Given the description of an element on the screen output the (x, y) to click on. 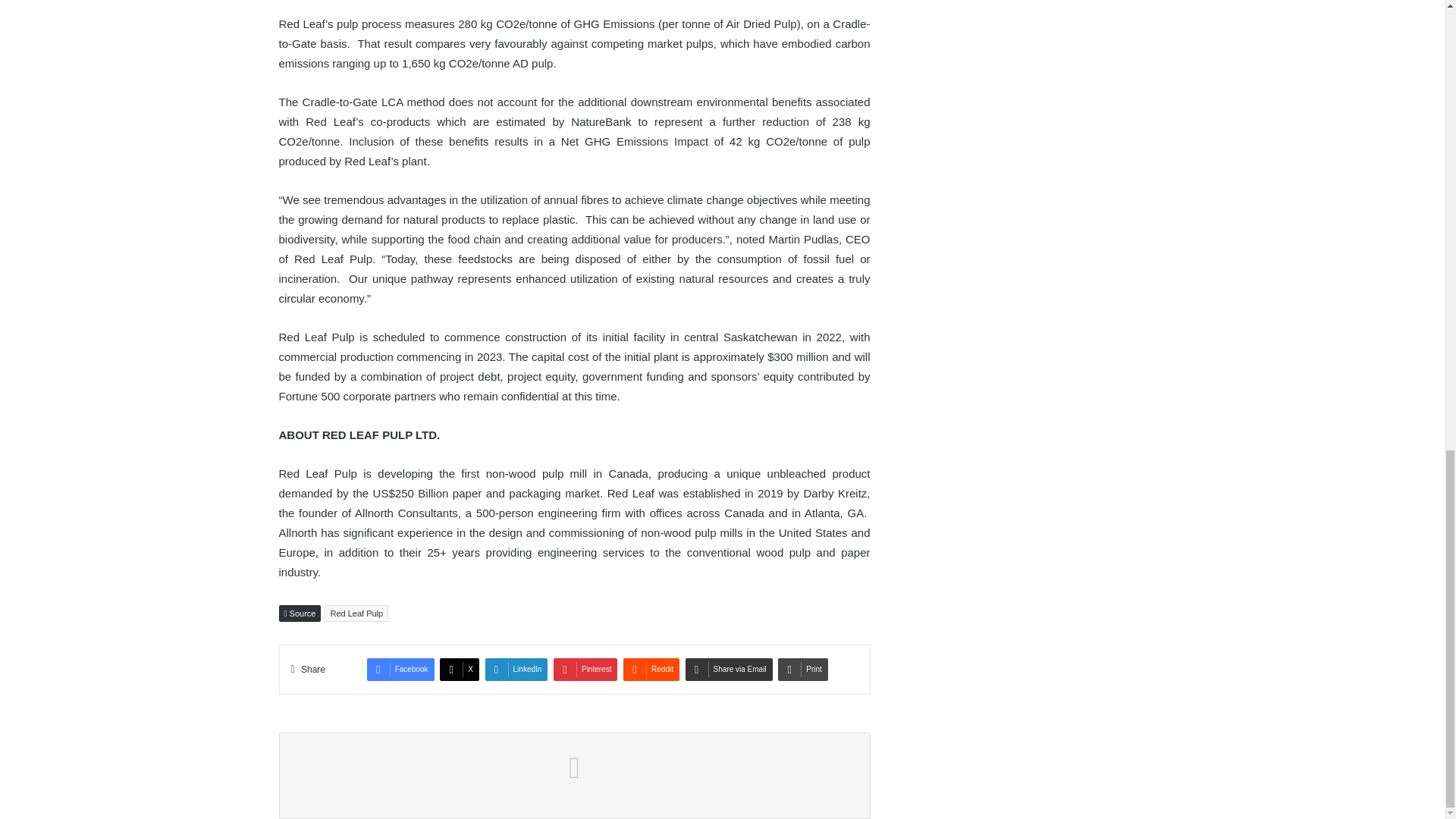
X (459, 669)
Facebook (399, 669)
Print (802, 669)
Pinterest (585, 669)
Red Leaf Pulp (356, 613)
Reddit (651, 669)
LinkedIn (516, 669)
Share via Email (729, 669)
